Given the description of an element on the screen output the (x, y) to click on. 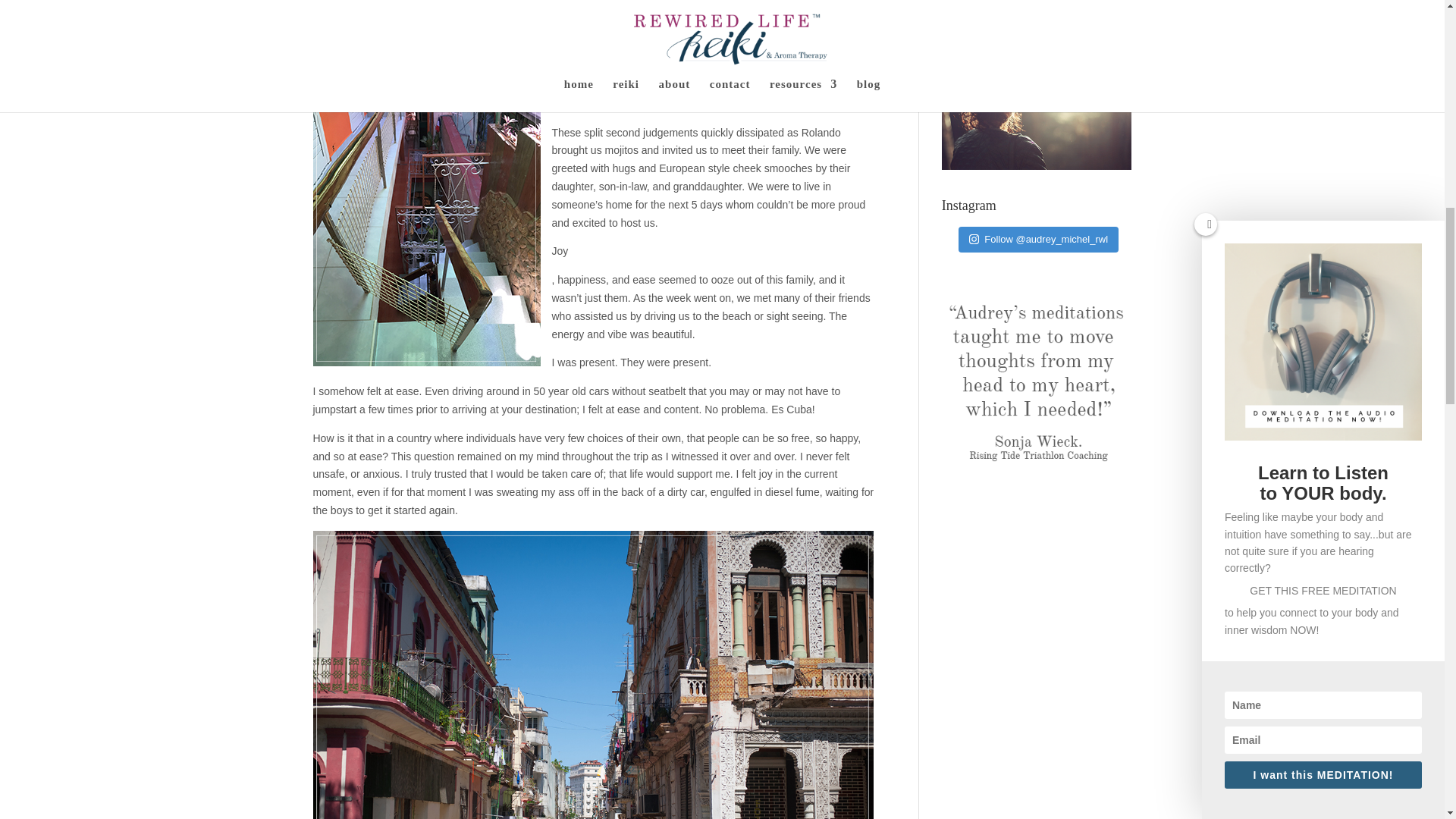
Testimonial-SonjaWieck (1036, 463)
